Given the description of an element on the screen output the (x, y) to click on. 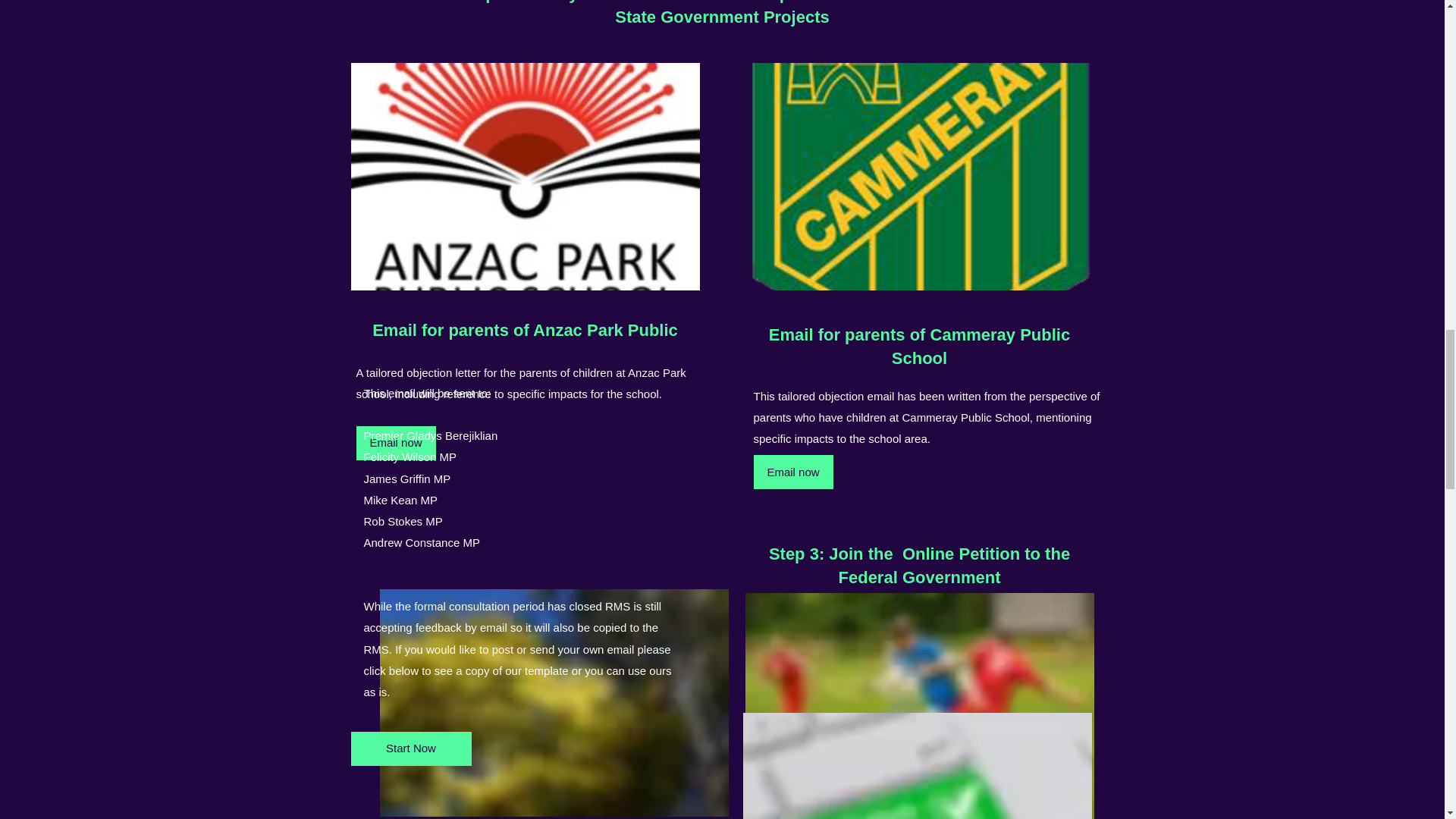
Email now (395, 442)
Start Now (410, 748)
Email now (793, 471)
Step 3: Join the  Online Petition to the Federal Government (919, 565)
